Given the description of an element on the screen output the (x, y) to click on. 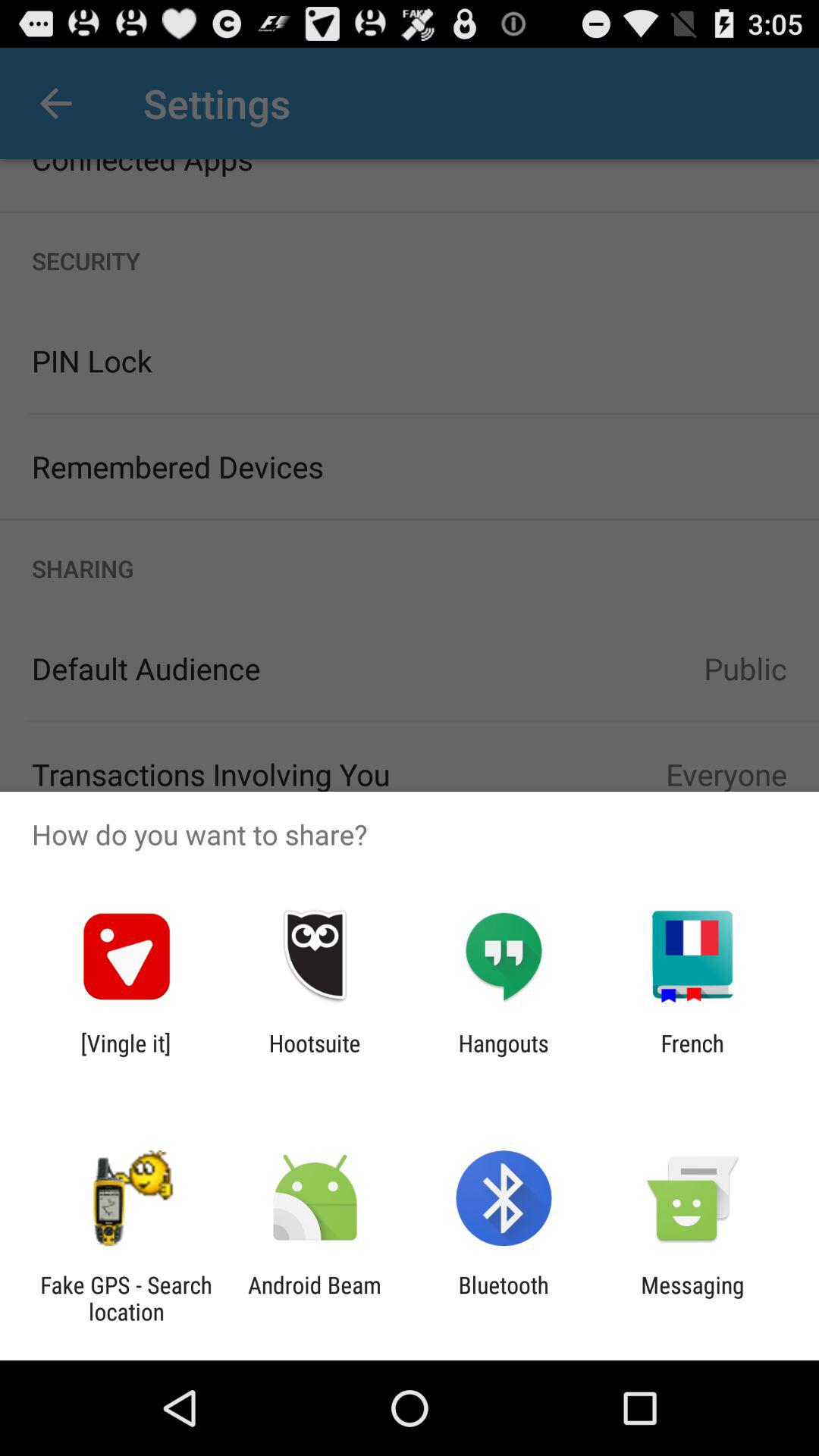
choose the bluetooth icon (503, 1298)
